Given the description of an element on the screen output the (x, y) to click on. 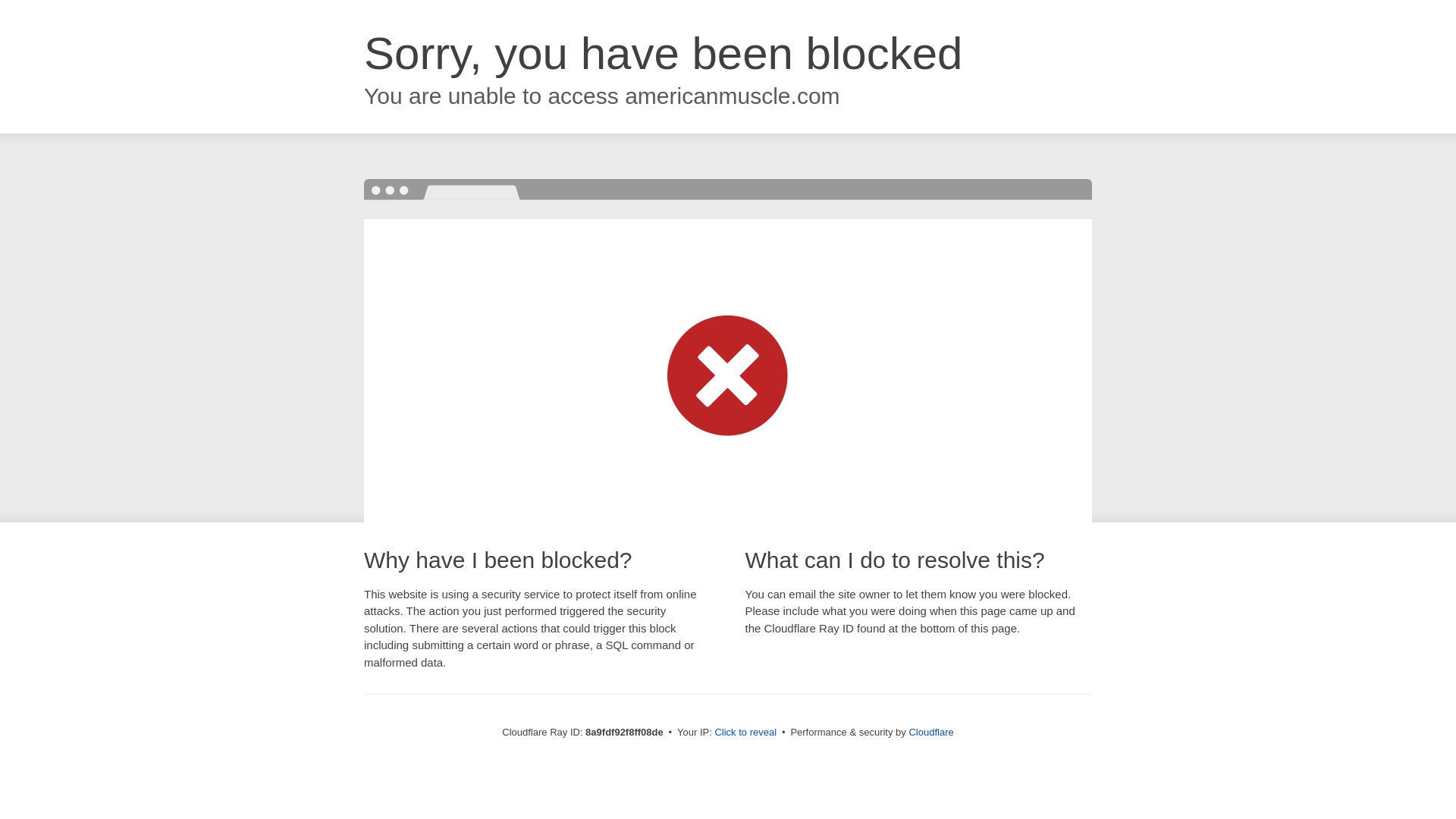
Click to reveal (745, 732)
Cloudflare (930, 731)
